Given the description of an element on the screen output the (x, y) to click on. 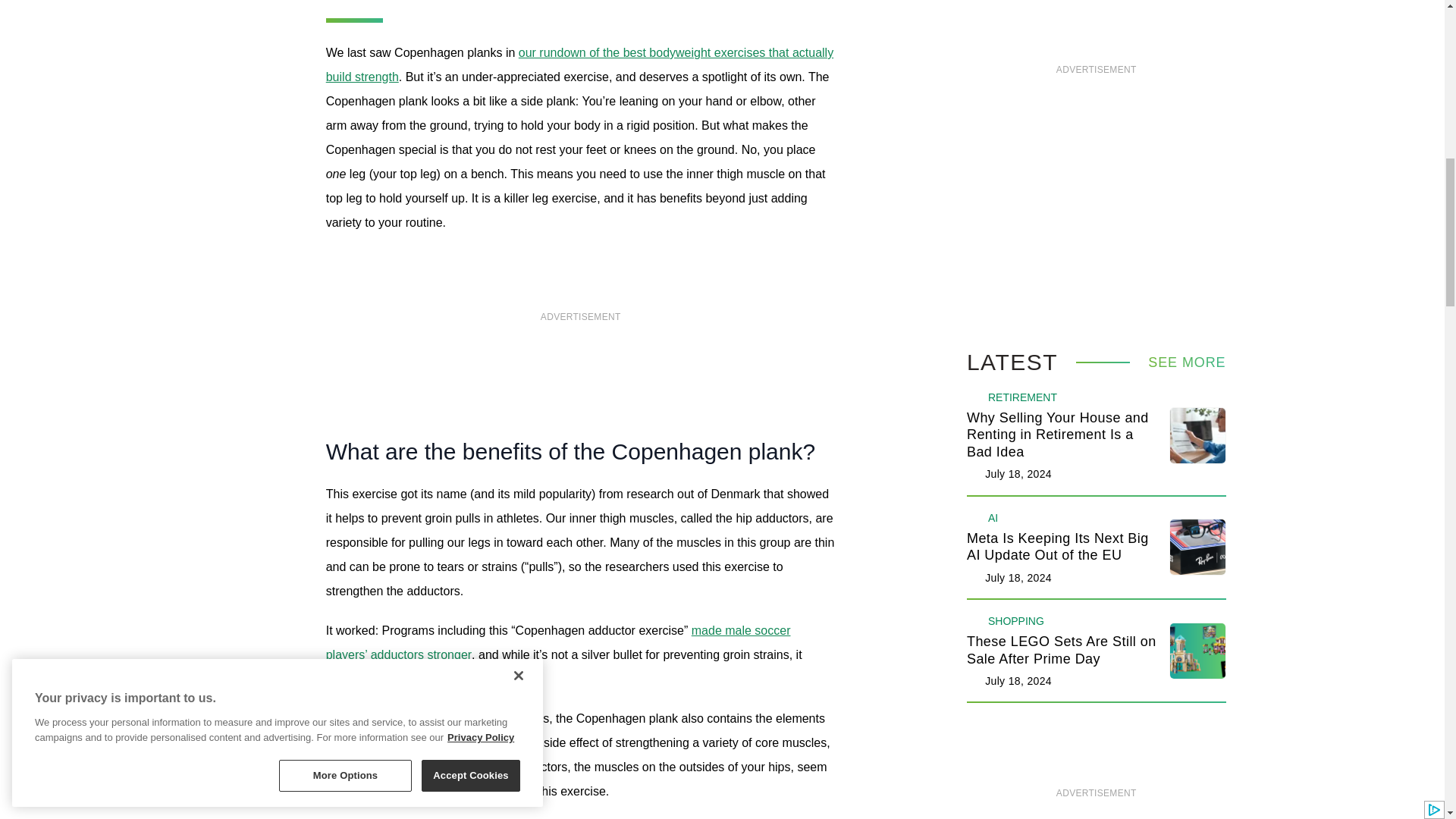
open in a new window (579, 64)
